Given the description of an element on the screen output the (x, y) to click on. 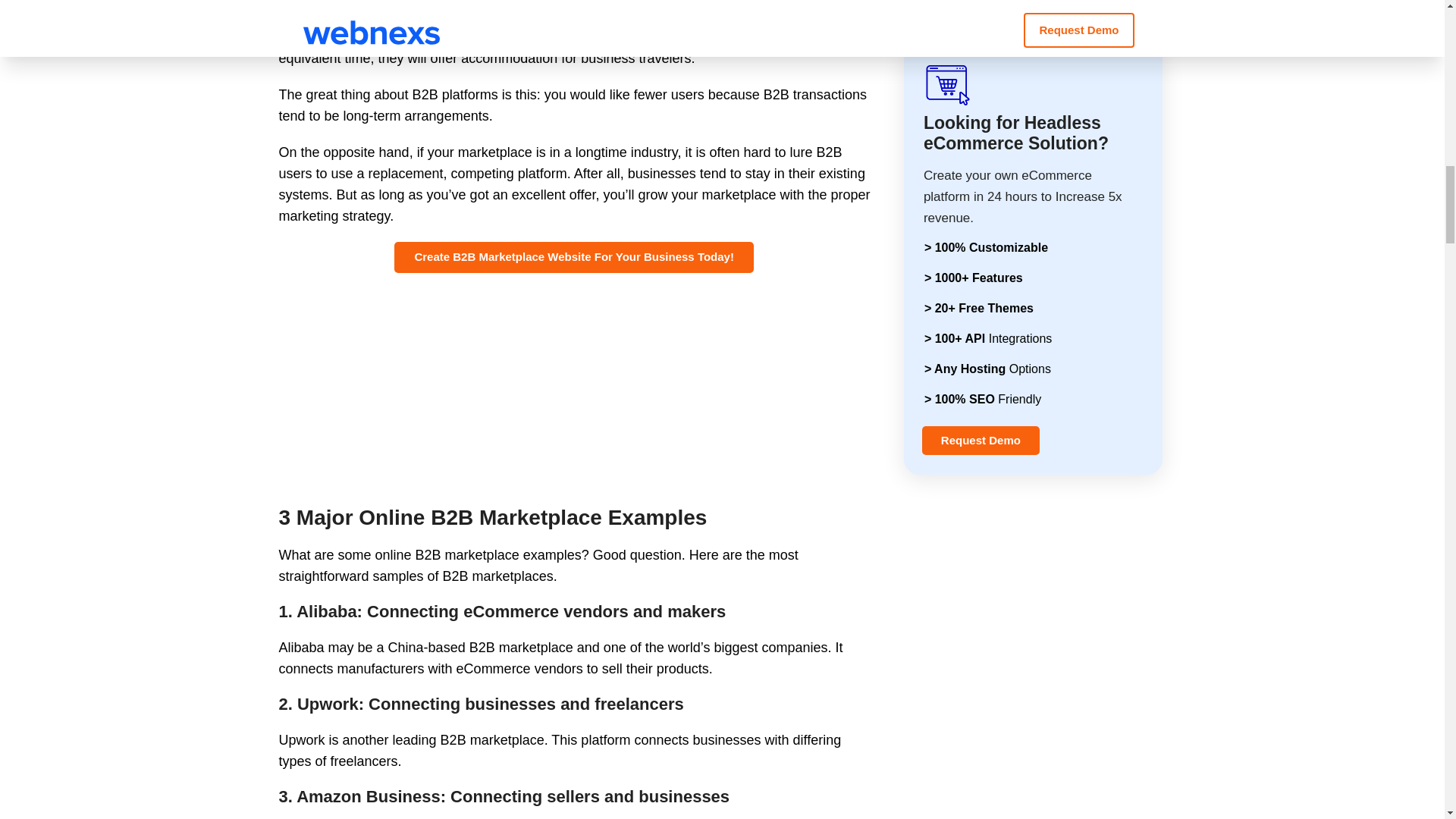
Create B2B Marketplace Website For Your Business Today! (574, 256)
